Given the description of an element on the screen output the (x, y) to click on. 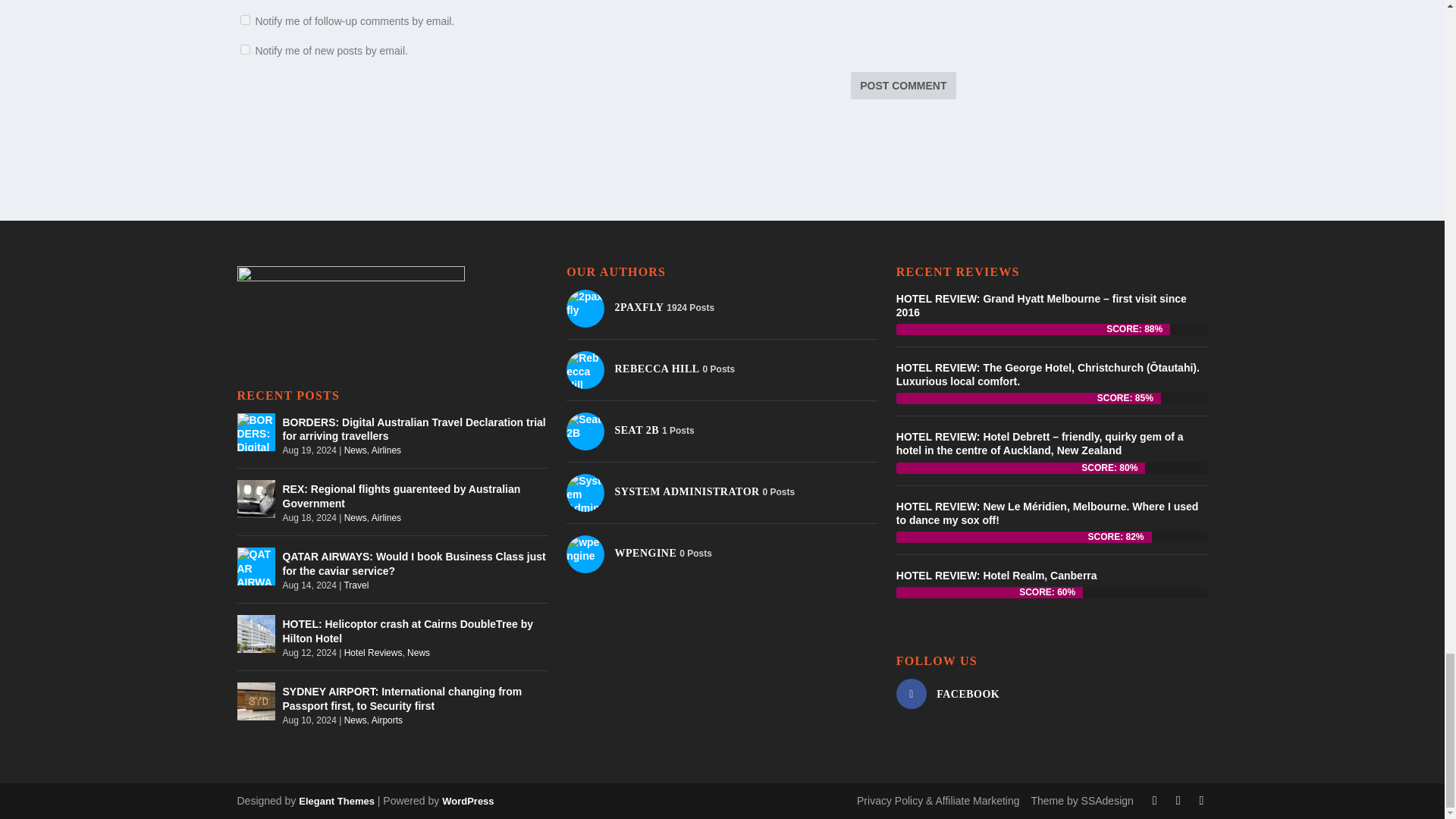
subscribe (244, 49)
subscribe (244, 20)
Post Comment (902, 85)
